Given the description of an element on the screen output the (x, y) to click on. 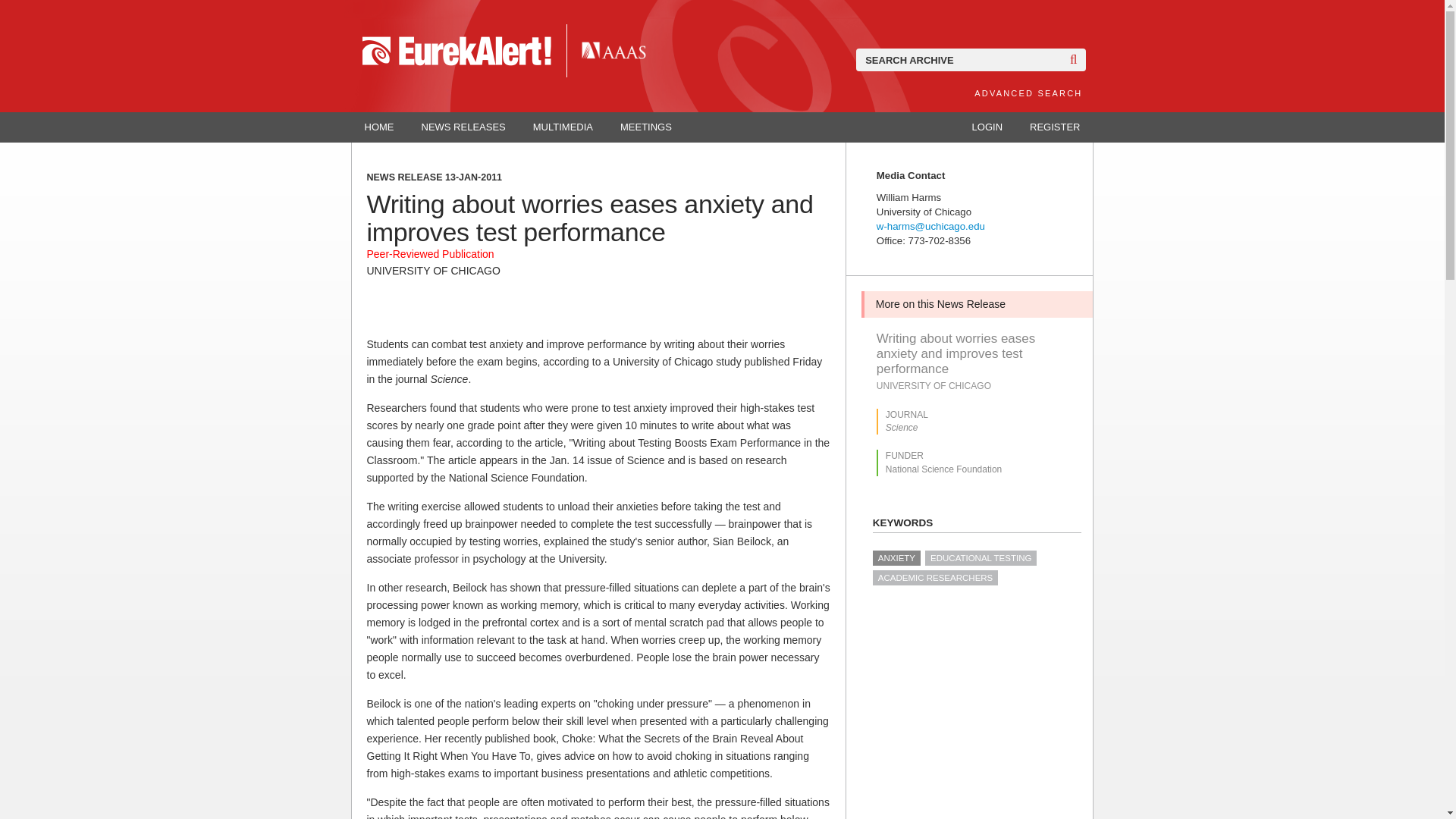
HOME (378, 127)
EDUCATIONAL TESTING (980, 557)
REGISTER (1054, 127)
MULTIMEDIA (563, 127)
NEWS RELEASES (463, 127)
LOGIN (987, 127)
ANXIETY (896, 557)
ADVANCED SEARCH (1027, 92)
MEETINGS (646, 127)
Peer-Reviewed Publication (430, 254)
ACADEMIC RESEARCHERS (934, 577)
